Given the description of an element on the screen output the (x, y) to click on. 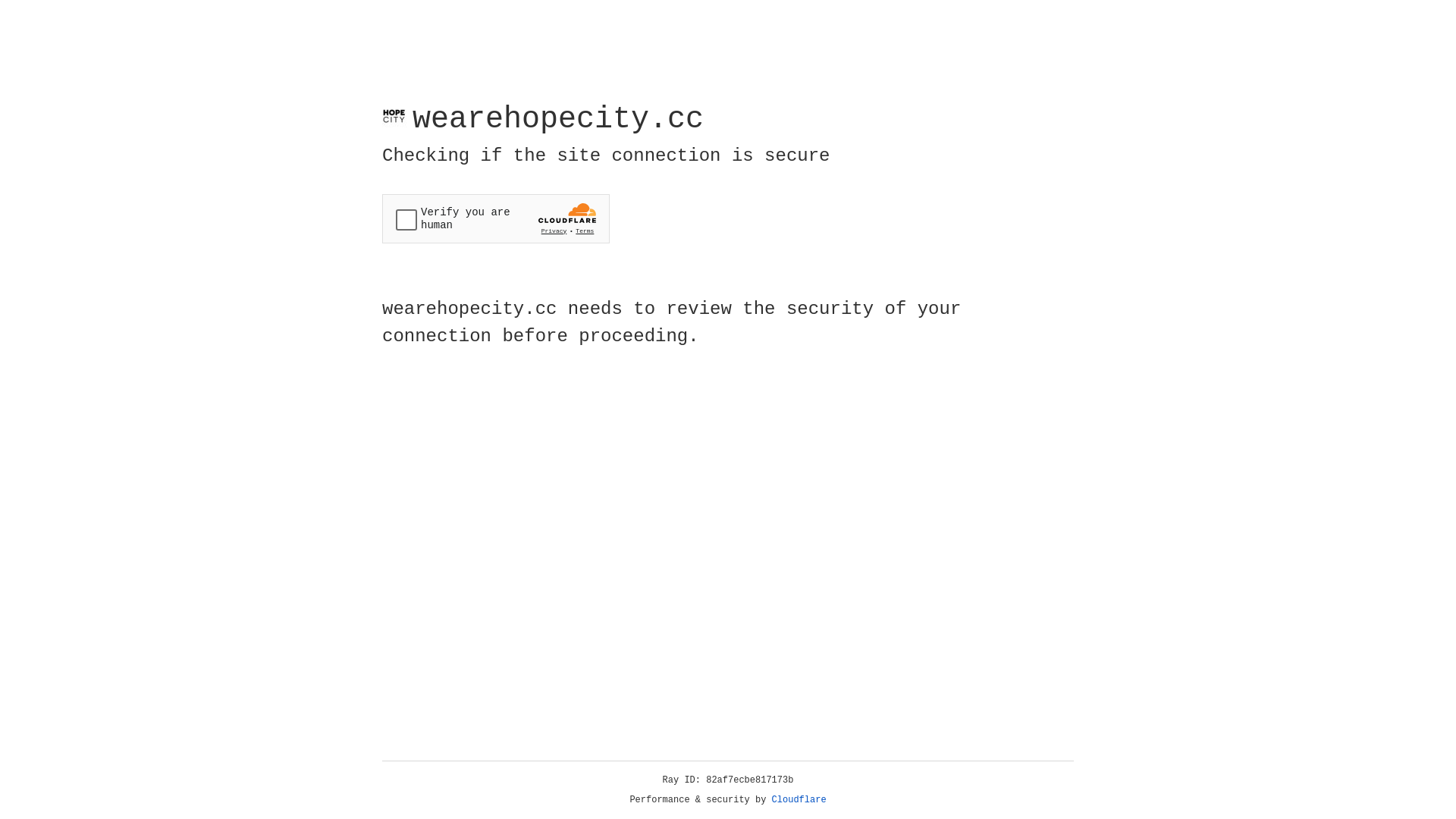
Cloudflare Element type: text (798, 799)
Widget containing a Cloudflare security challenge Element type: hover (495, 218)
